Given the description of an element on the screen output the (x, y) to click on. 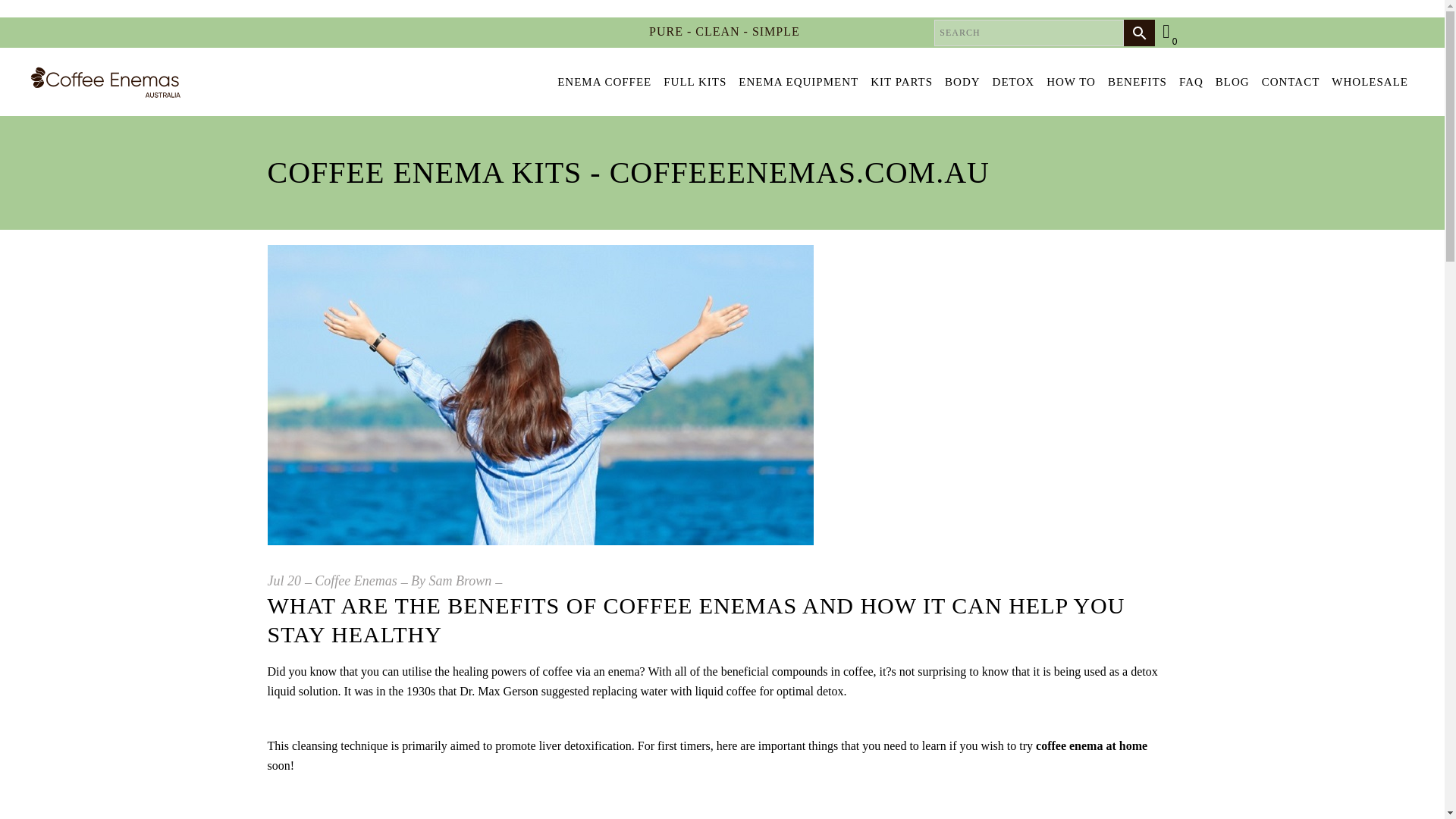
KIT PARTS (901, 81)
CONTACT (1290, 81)
ENEMA EQUIPMENT (798, 81)
ENEMA COFFEE (604, 81)
FULL KITS (695, 81)
BENEFITS (1137, 81)
HOW TO (1071, 81)
WHOLESALE (1368, 81)
